Given the description of an element on the screen output the (x, y) to click on. 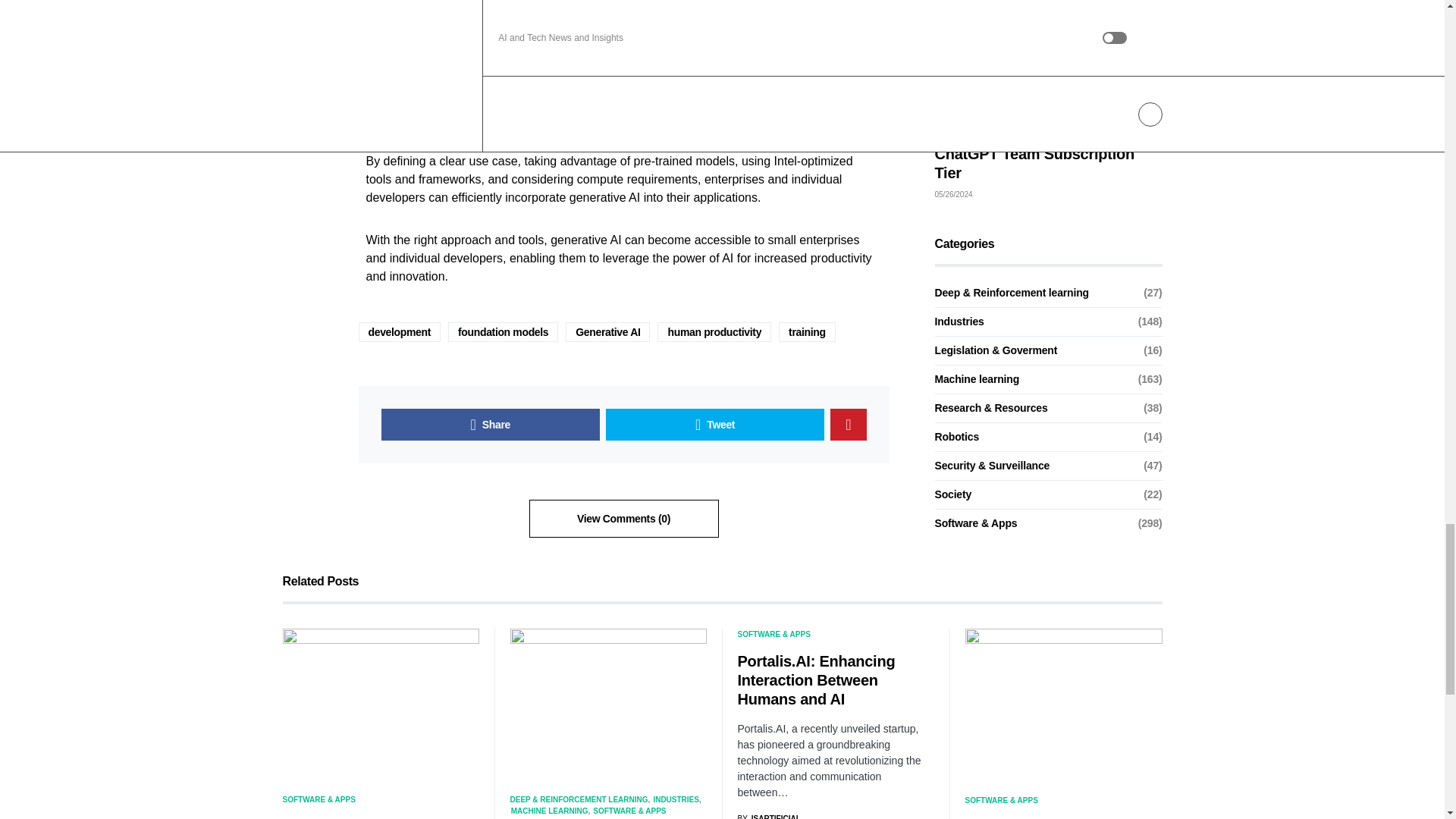
View all posts by IsArtificial (767, 816)
